Given the description of an element on the screen output the (x, y) to click on. 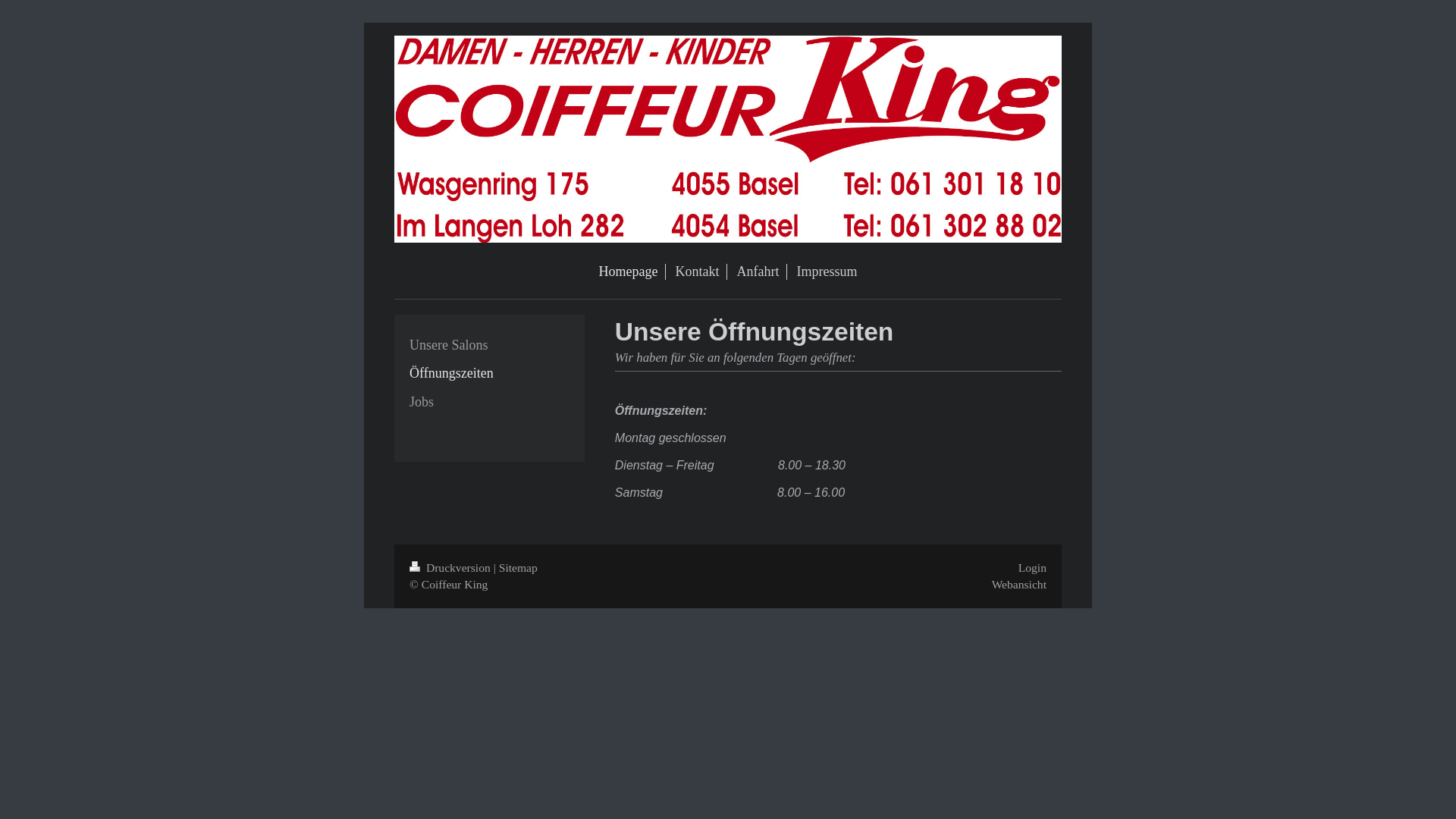
Kontakt Element type: text (697, 271)
Homepage Element type: text (628, 271)
Anfahrt Element type: text (757, 271)
Jobs Element type: text (489, 401)
Unsere Salons Element type: text (489, 343)
Webansicht Element type: text (1018, 583)
Druckversion Element type: text (451, 567)
Login Element type: text (1032, 567)
Sitemap Element type: text (517, 567)
Impressum Element type: text (826, 271)
